Given the description of an element on the screen output the (x, y) to click on. 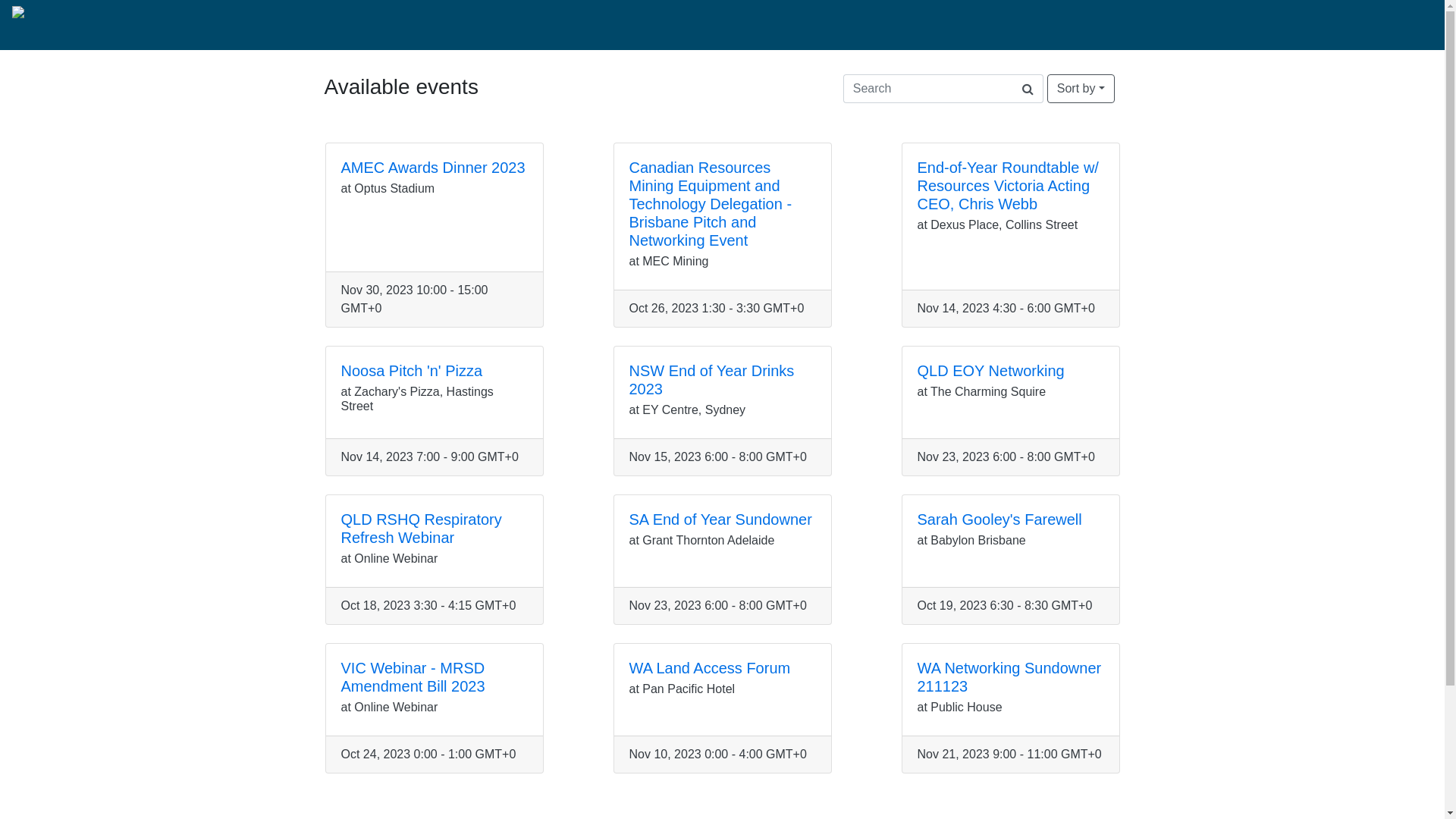
WA Land Access Forum Element type: text (709, 667)
NSW End of Year Drinks 2023 Element type: text (711, 379)
WA Networking Sundowner 211123 Element type: text (1009, 676)
SA End of Year Sundowner Element type: text (720, 519)
Noosa Pitch 'n' Pizza Element type: text (412, 370)
Sarah Gooley's Farewell Element type: text (999, 519)
QLD RSHQ Respiratory Refresh Webinar Element type: text (421, 528)
Sort by Element type: text (1080, 88)
QLD EOY Networking Element type: text (990, 370)
VIC Webinar - MRSD Amendment Bill 2023 Element type: text (413, 676)
AMEC Awards Dinner 2023 Element type: text (433, 167)
